Given the description of an element on the screen output the (x, y) to click on. 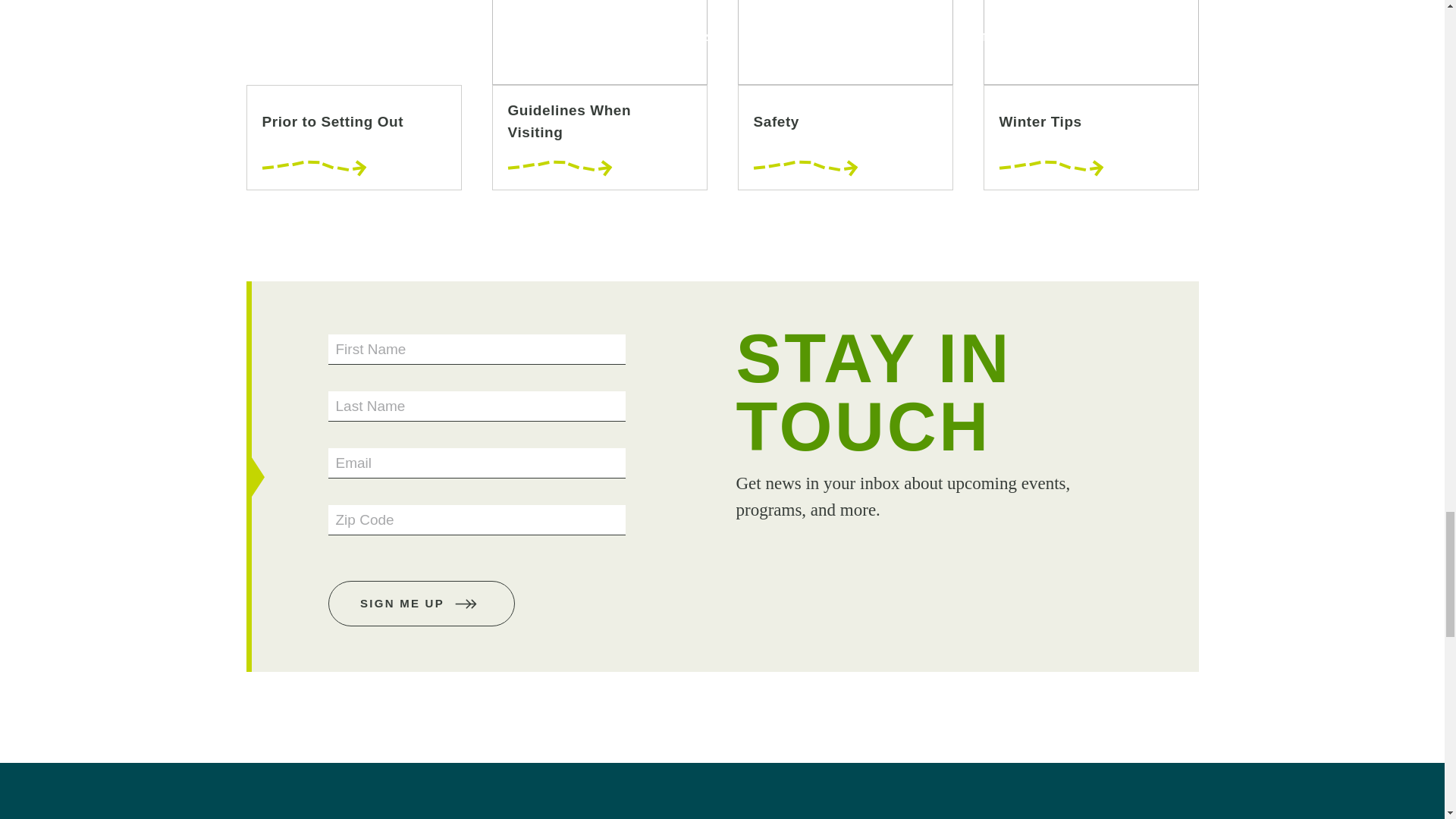
Guidelines When Visiting (599, 95)
Prior to Setting Out (353, 95)
Safety (844, 95)
